Given the description of an element on the screen output the (x, y) to click on. 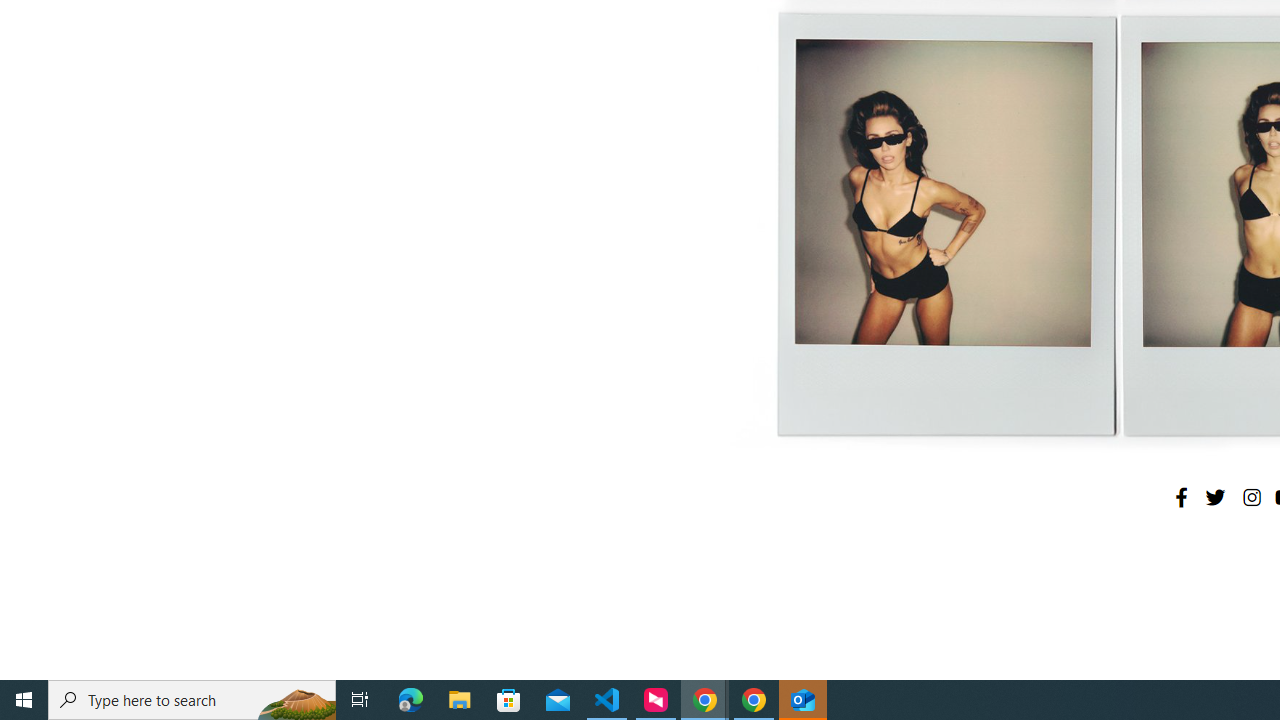
Facebook (1181, 497)
Instagram (1251, 497)
